Given the description of an element on the screen output the (x, y) to click on. 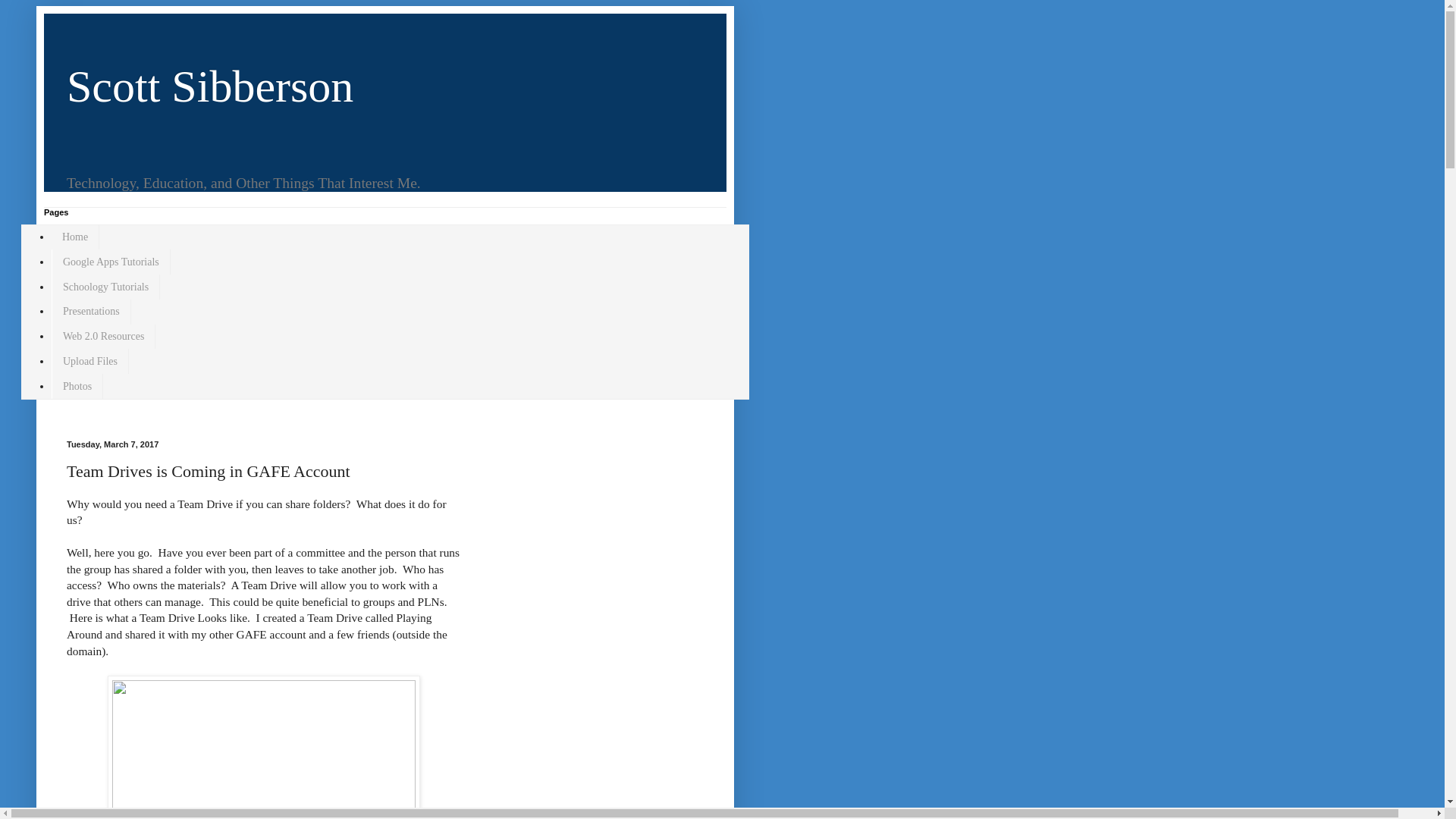
Schoology Tutorials (105, 286)
Upload Files (89, 360)
Home (74, 237)
Web 2.0 Resources (102, 336)
Scott Sibberson (209, 86)
Google Apps Tutorials (110, 261)
Presentations (90, 311)
Photos (76, 385)
